Given the description of an element on the screen output the (x, y) to click on. 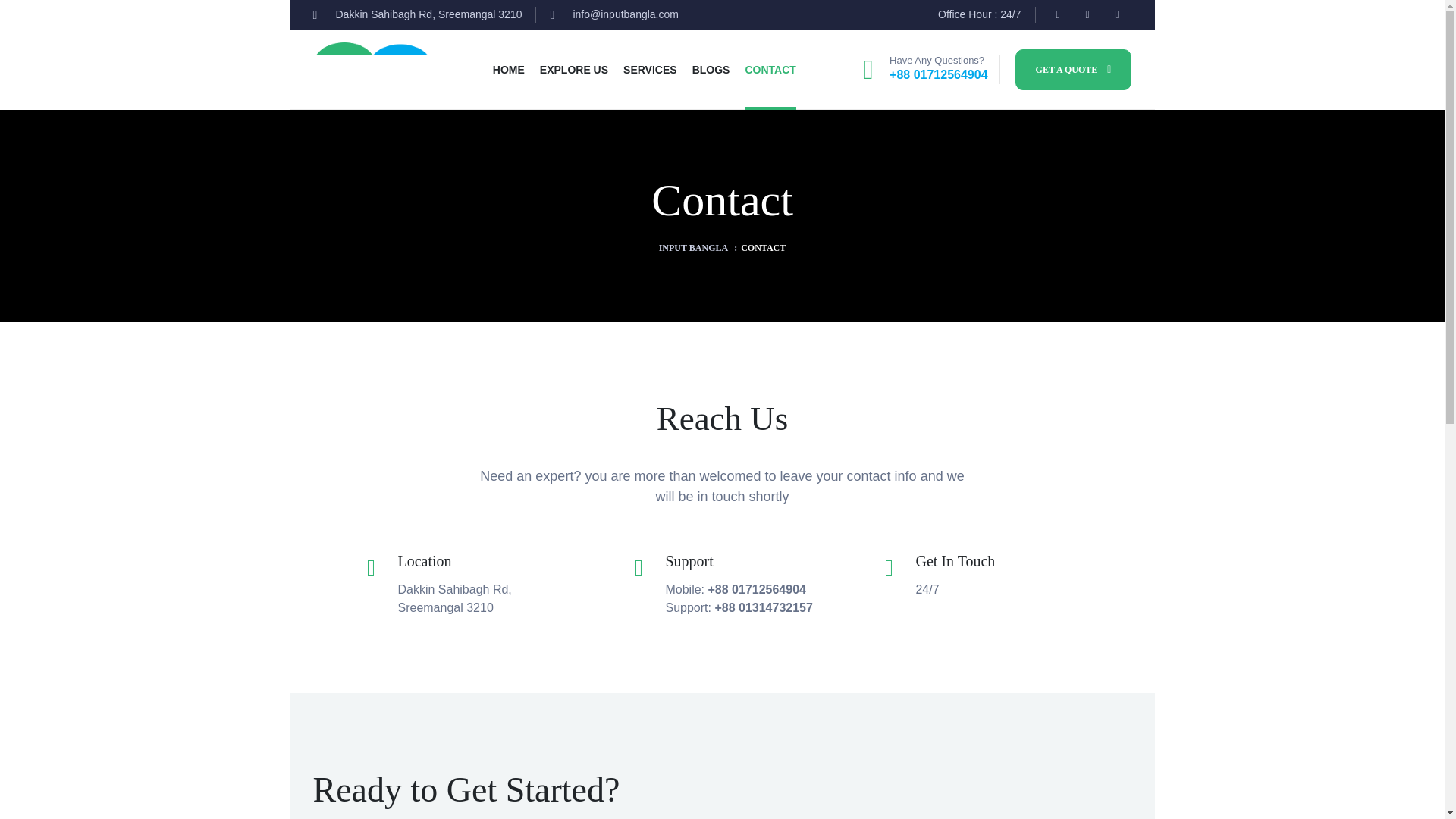
GET A QUOTE (1073, 68)
TOP (1414, 783)
Input Bangla, Dakkin Sahibagh Road, Sreemangal (924, 794)
Go to Input Bangla. (693, 247)
